Given the description of an element on the screen output the (x, y) to click on. 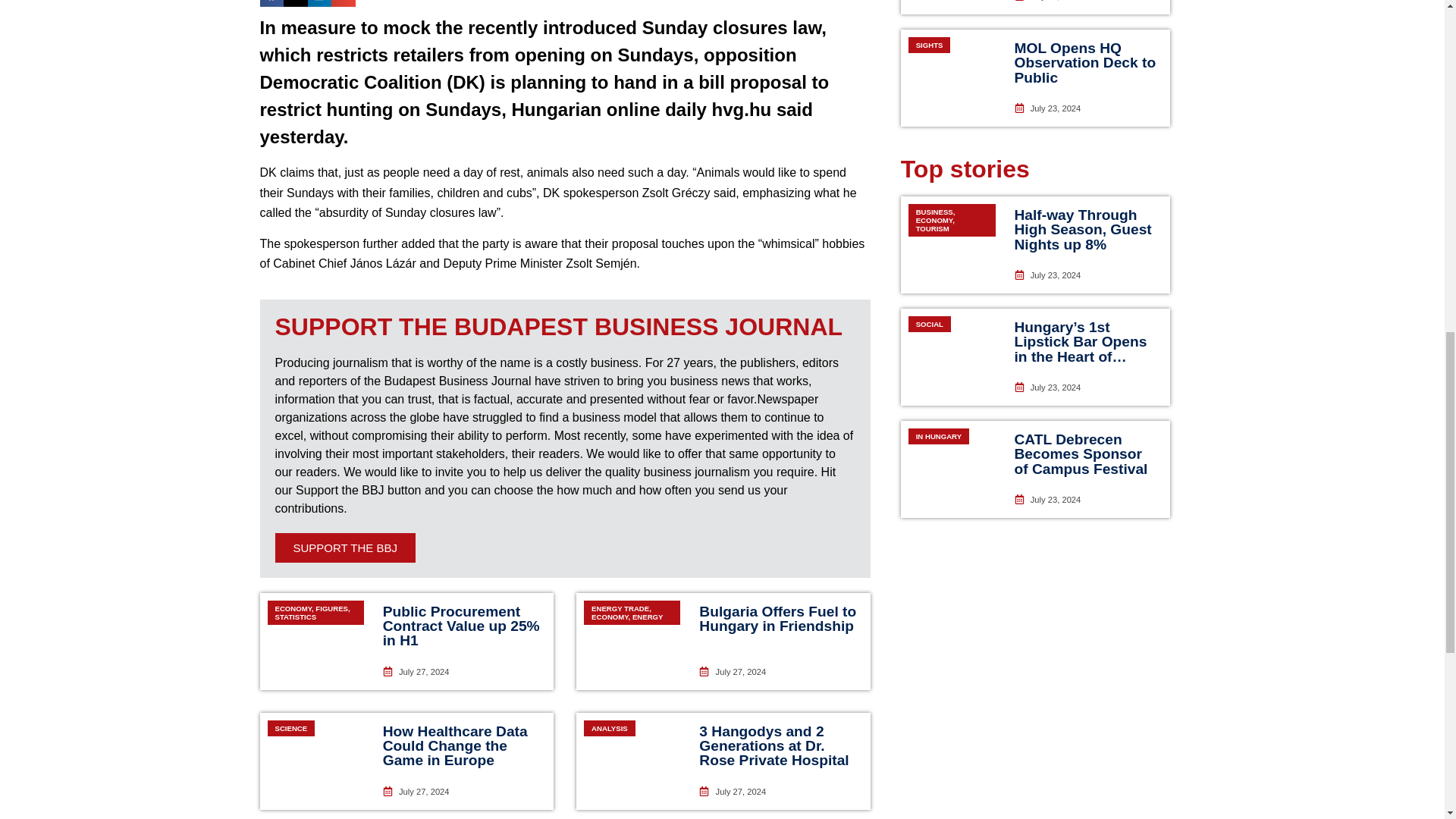
ENERGY TRADE, ECONOMY, ENERGY (631, 641)
3 Hangodys and 2 Generations at Dr. Rose Private Hospital (773, 745)
SCIENCE (315, 760)
ECONOMY, FIGURES, STATISTICS (315, 641)
SIGHTS (952, 7)
SIGHTS (952, 77)
How Healthcare Data Could Change the Game in Europe (454, 745)
ANALYSIS (631, 760)
MOL Opens HQ Observation Deck to Public (1085, 62)
Bulgaria Offers Fuel to Hungary in Friendship (777, 618)
SUPPORT THE BBJ (344, 547)
